Given the description of an element on the screen output the (x, y) to click on. 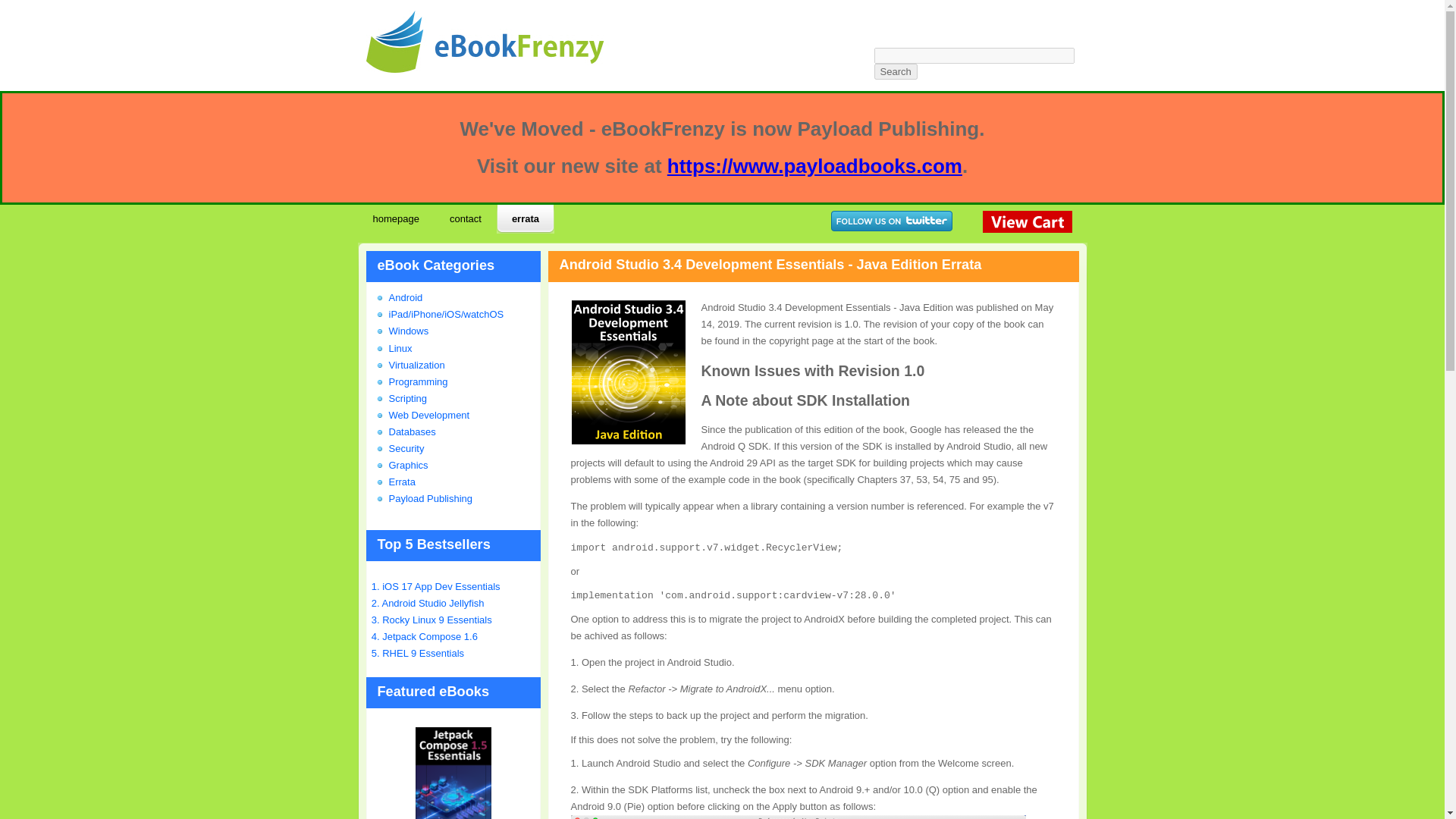
errata (525, 221)
Search (895, 71)
Search (895, 71)
Windows (408, 330)
Databases (411, 431)
Android (405, 297)
Linux (400, 348)
Web Development (428, 414)
contact (464, 221)
Programming (417, 381)
Scripting (407, 398)
Virtualization (416, 365)
homepage (395, 221)
